Given the description of an element on the screen output the (x, y) to click on. 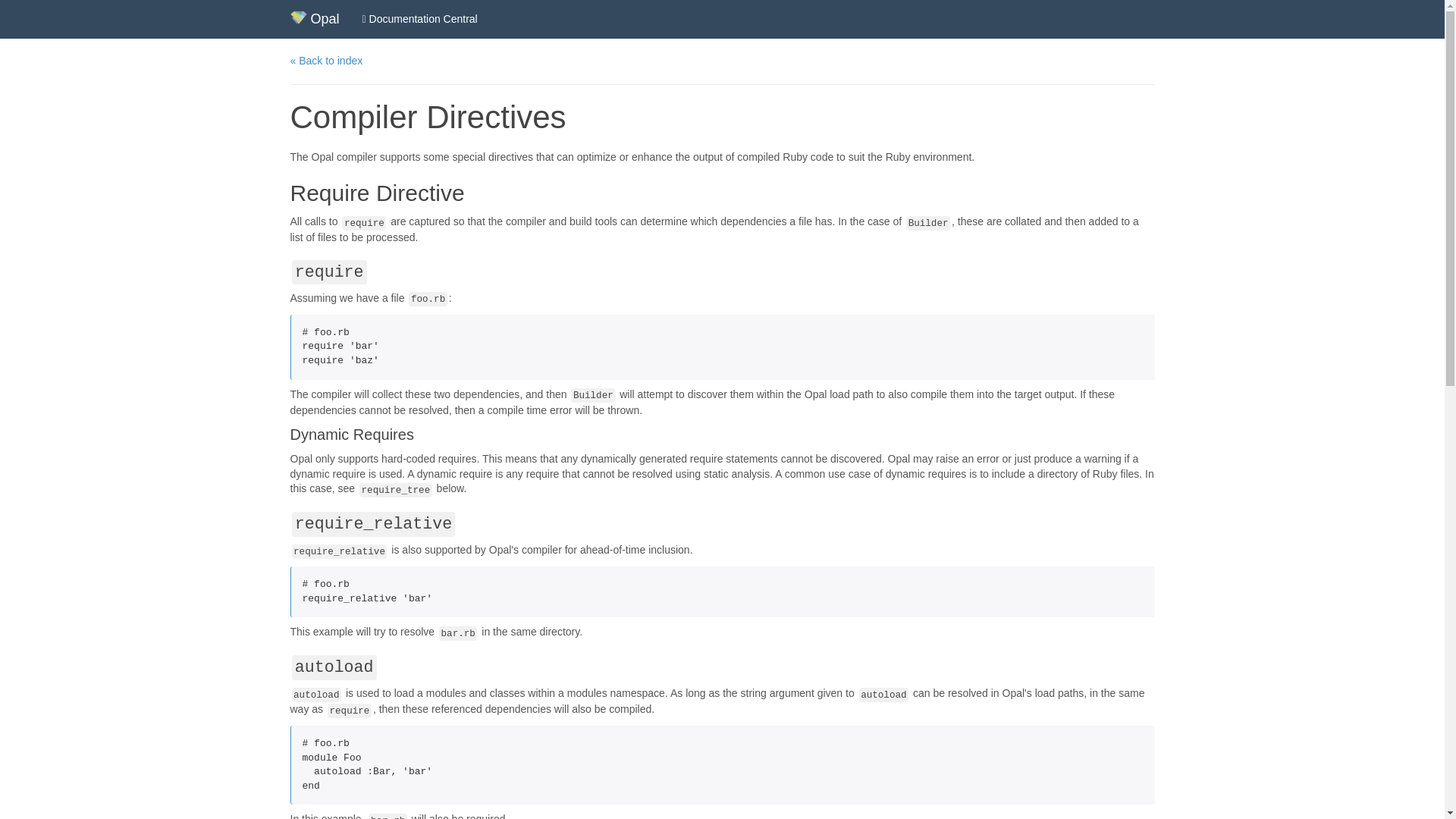
Documentation Central (419, 18)
Opal (314, 18)
